Given the description of an element on the screen output the (x, y) to click on. 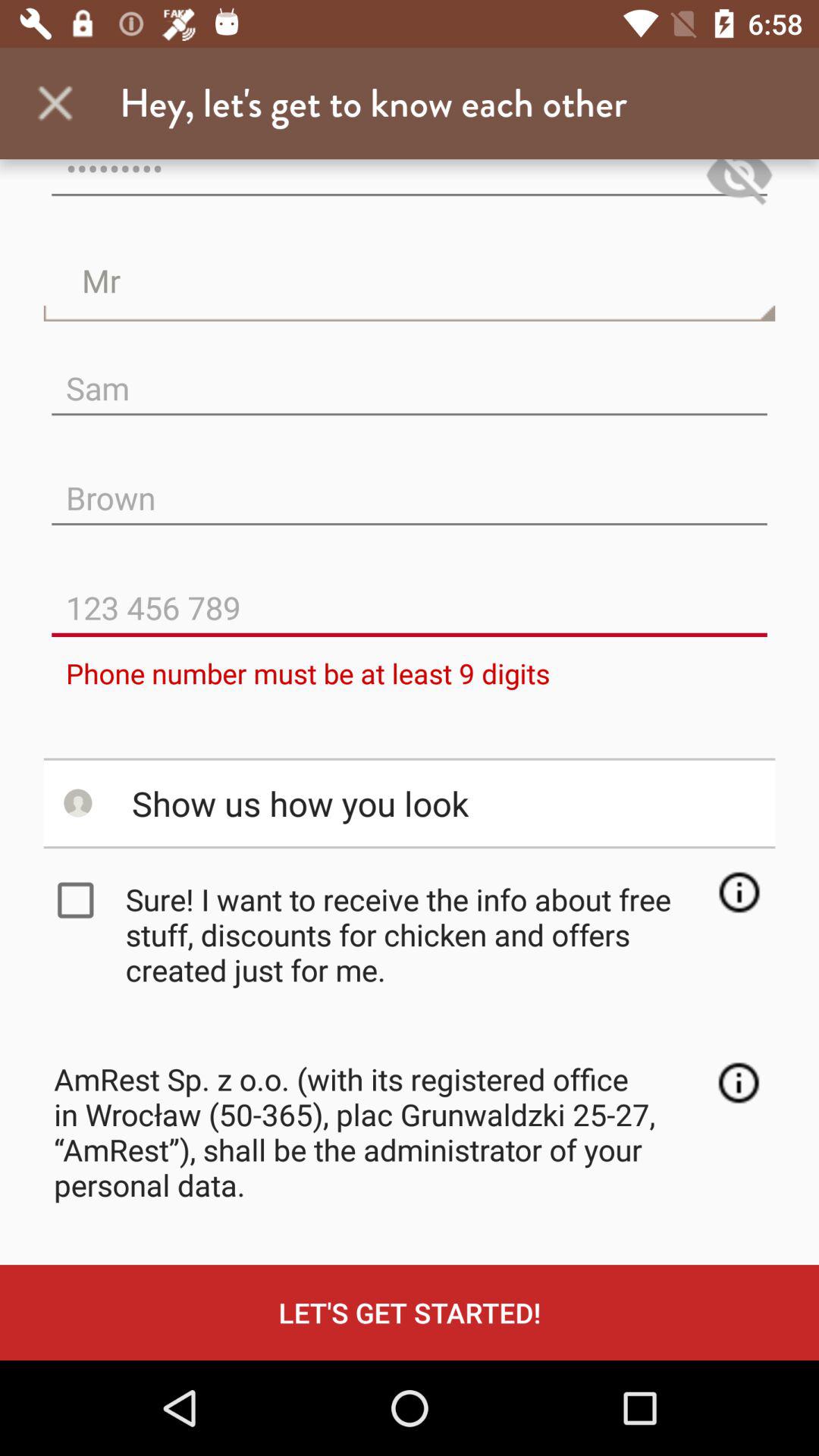
check option (79, 900)
